Given the description of an element on the screen output the (x, y) to click on. 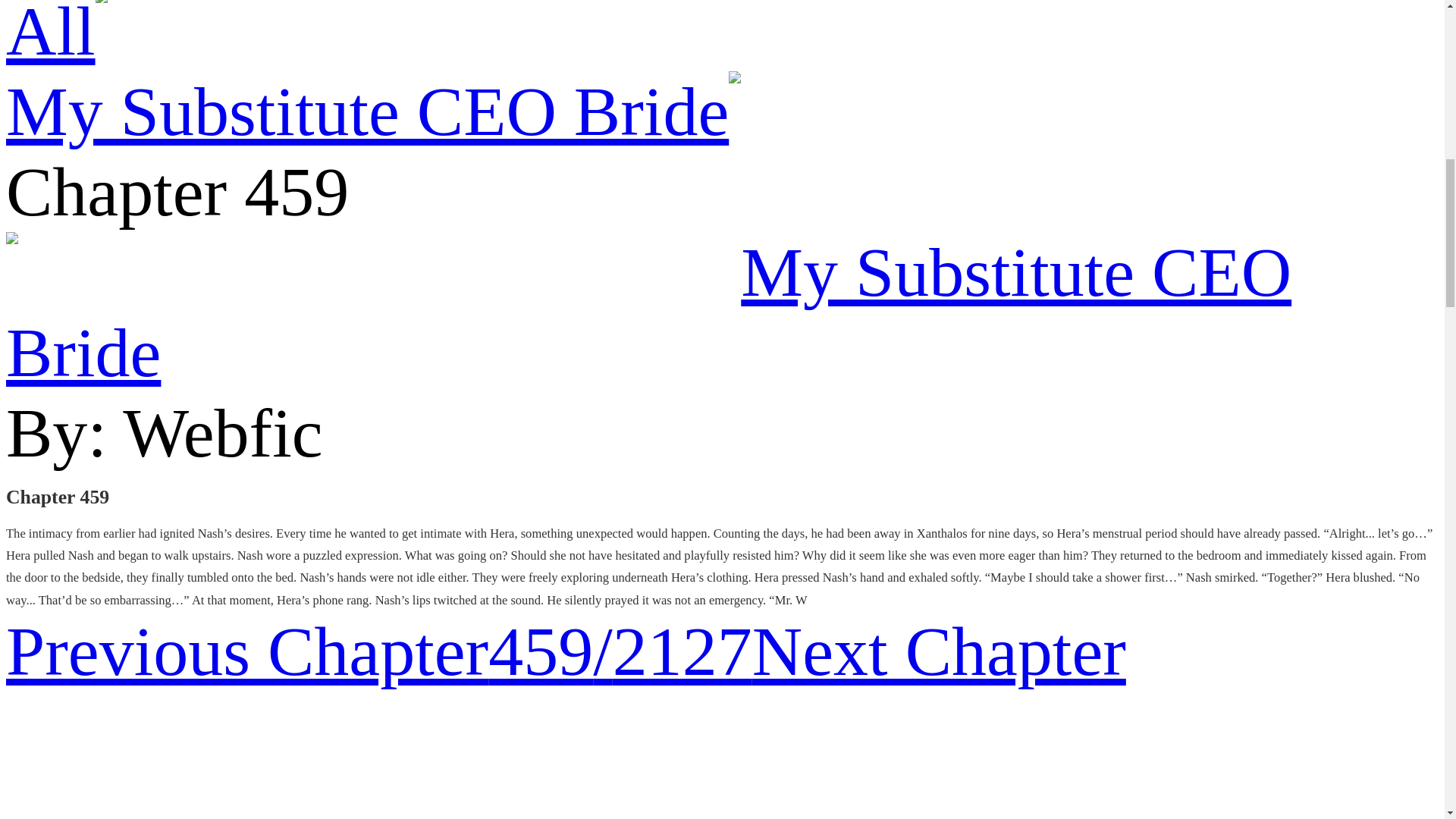
Next Chapter (938, 651)
My Substitute CEO Bride (367, 110)
Previous Chapter (246, 651)
All (50, 34)
